Given the description of an element on the screen output the (x, y) to click on. 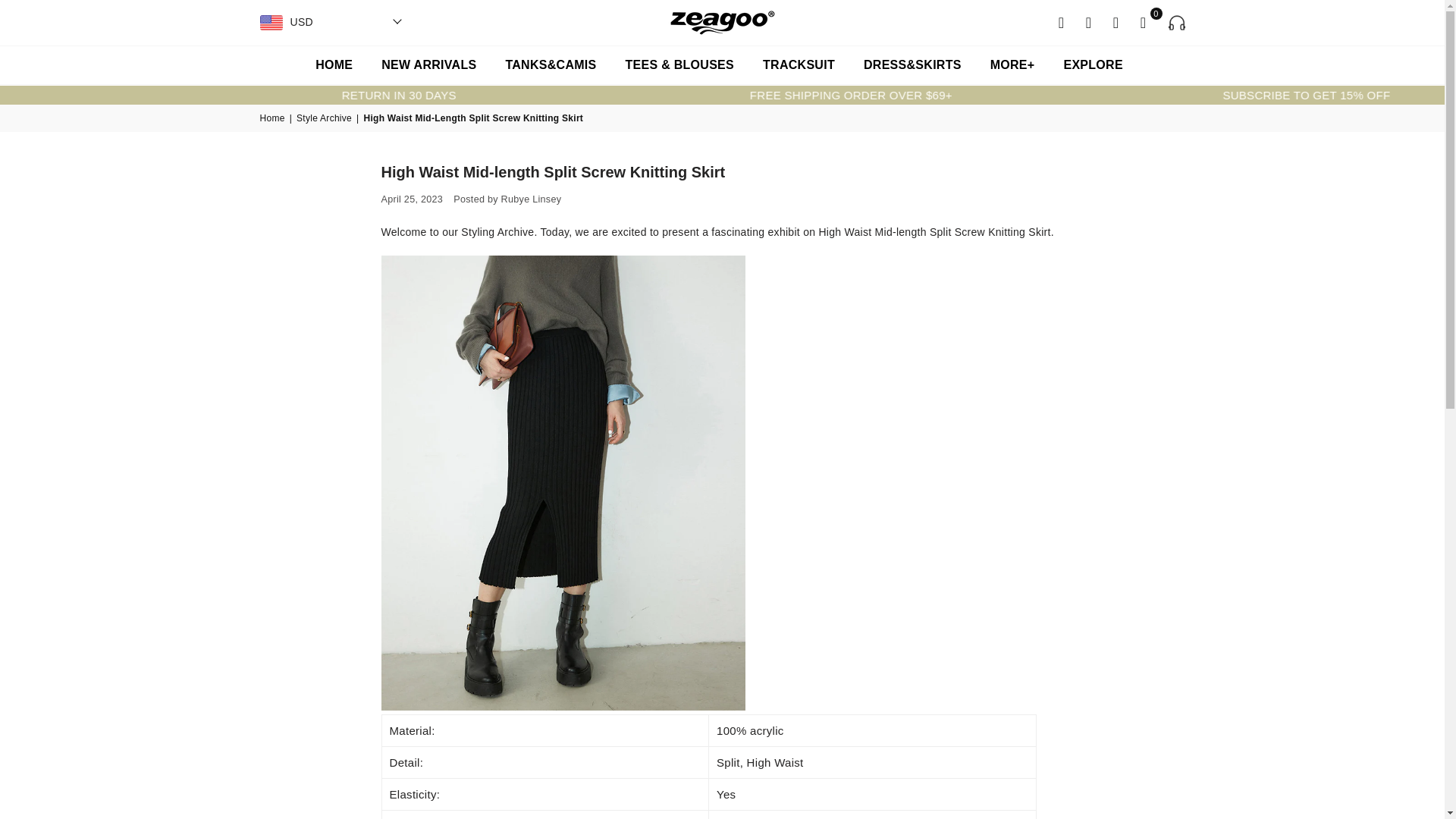
EXPLORE (1092, 64)
ZEAGOO (722, 22)
Back to the home page (272, 118)
Customer Service (1171, 22)
TRACKSUIT (798, 64)
HOME (334, 64)
Cart (1143, 20)
0 (1143, 20)
NEW ARRIVALS (428, 64)
Wishlist (1115, 20)
Settings (1088, 20)
Search (1061, 20)
